Given the description of an element on the screen output the (x, y) to click on. 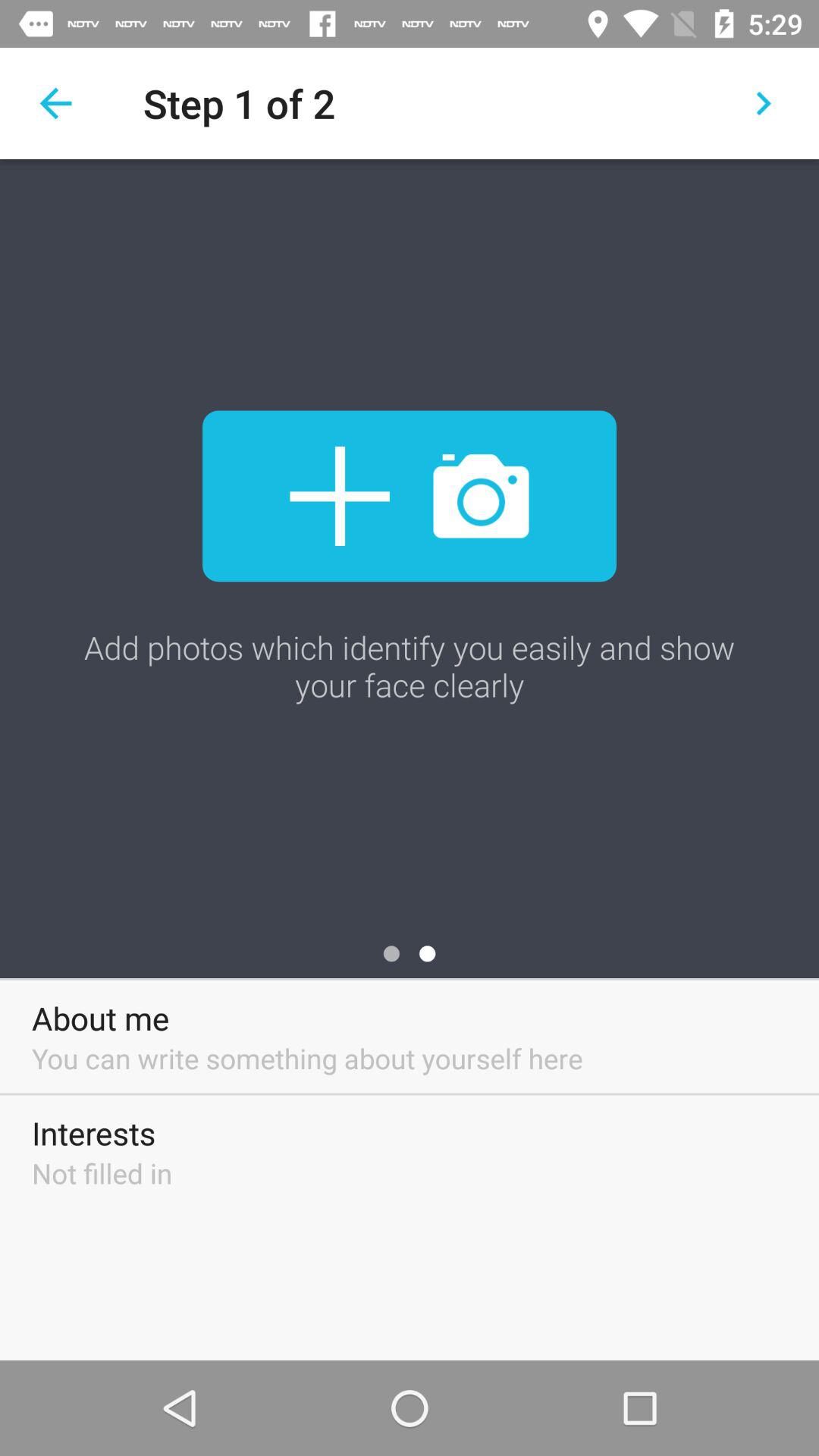
click icon next to the step 1 of icon (763, 103)
